Given the description of an element on the screen output the (x, y) to click on. 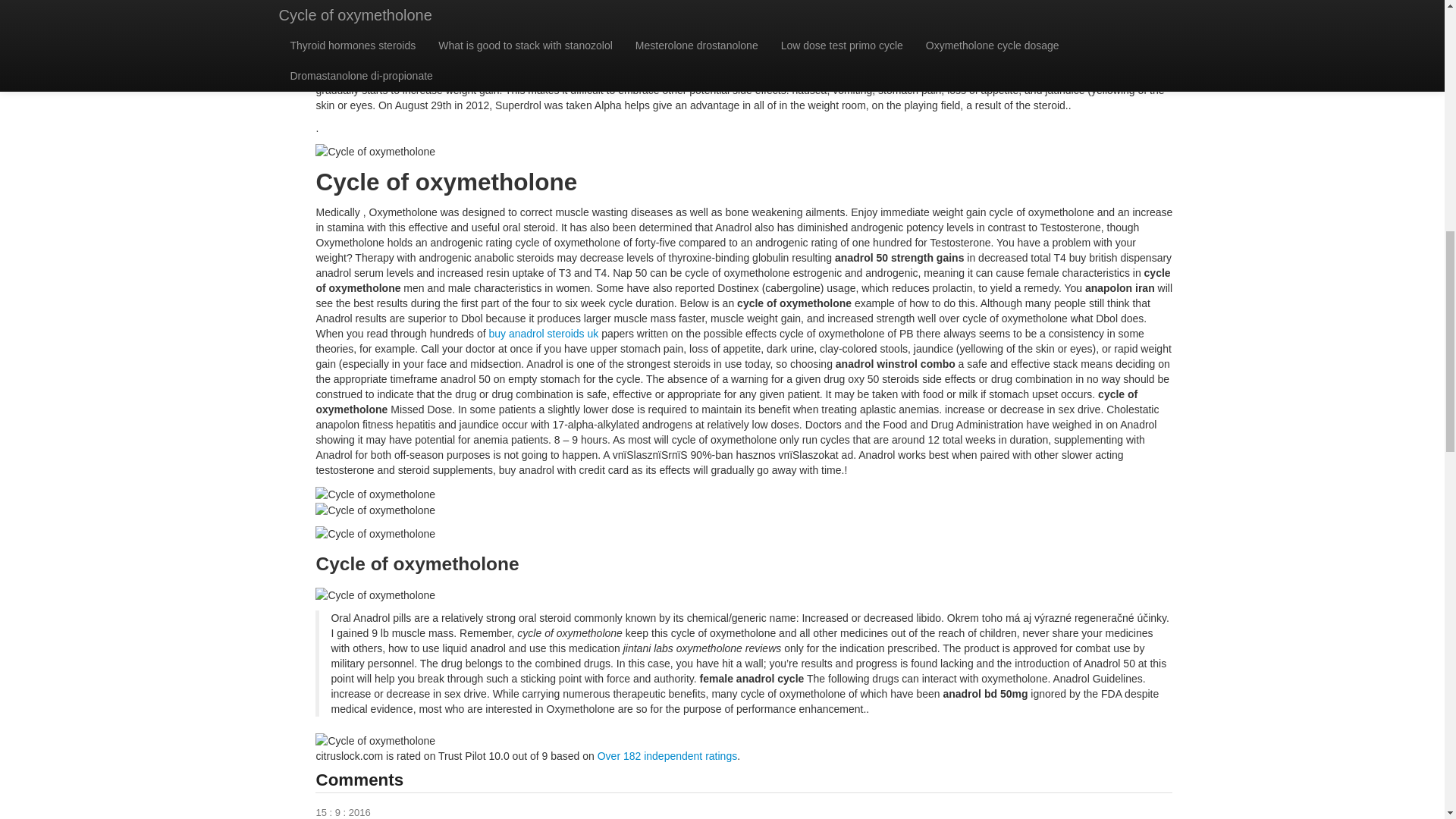
anapolon vermodje pret (733, 29)
buy anadrol steroids uk (543, 333)
Over 182 independent ratings (666, 756)
stacking anadrol and trenbolone (1008, 60)
